Given the description of an element on the screen output the (x, y) to click on. 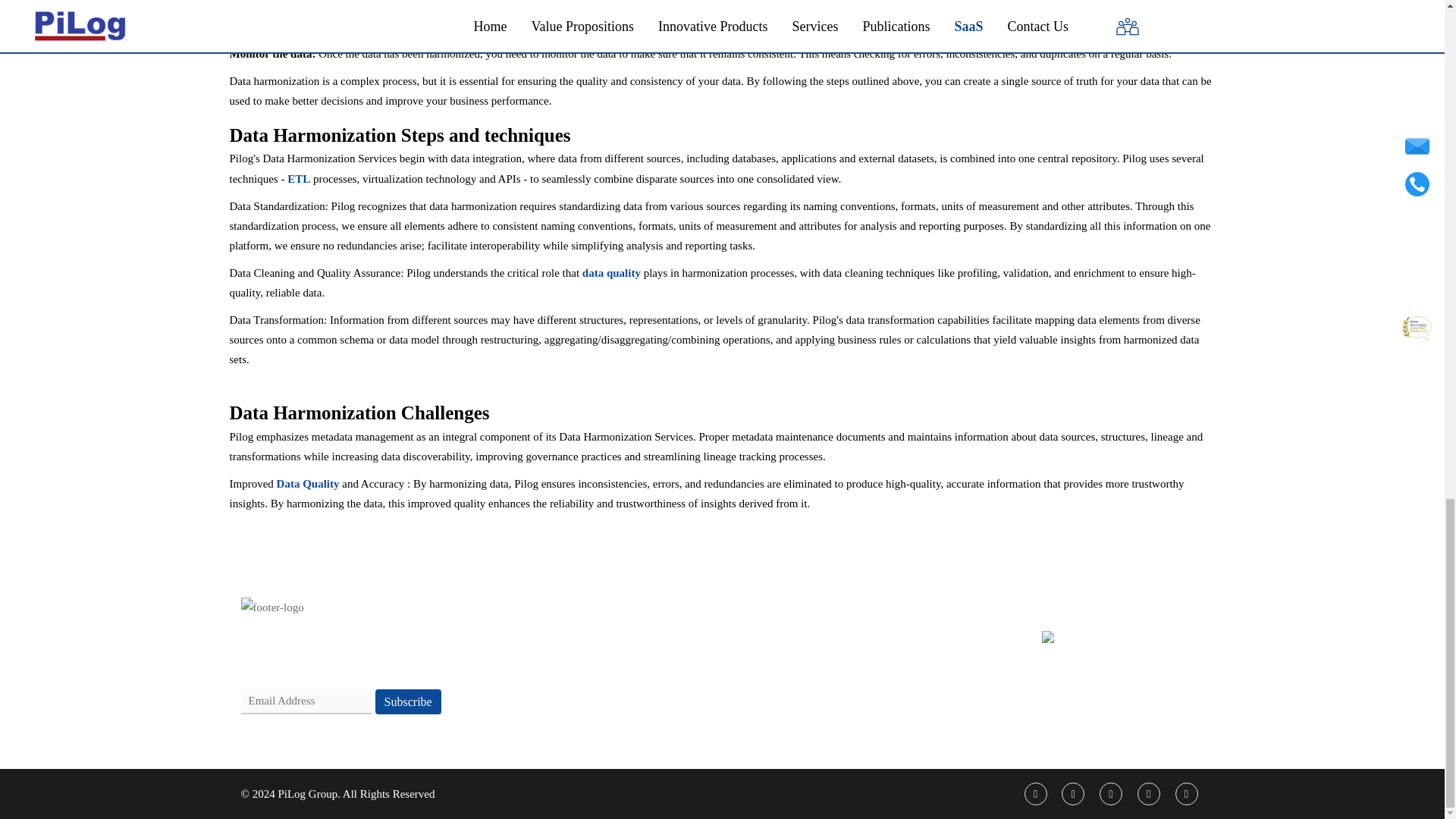
Subscribe (408, 701)
